Given the description of an element on the screen output the (x, y) to click on. 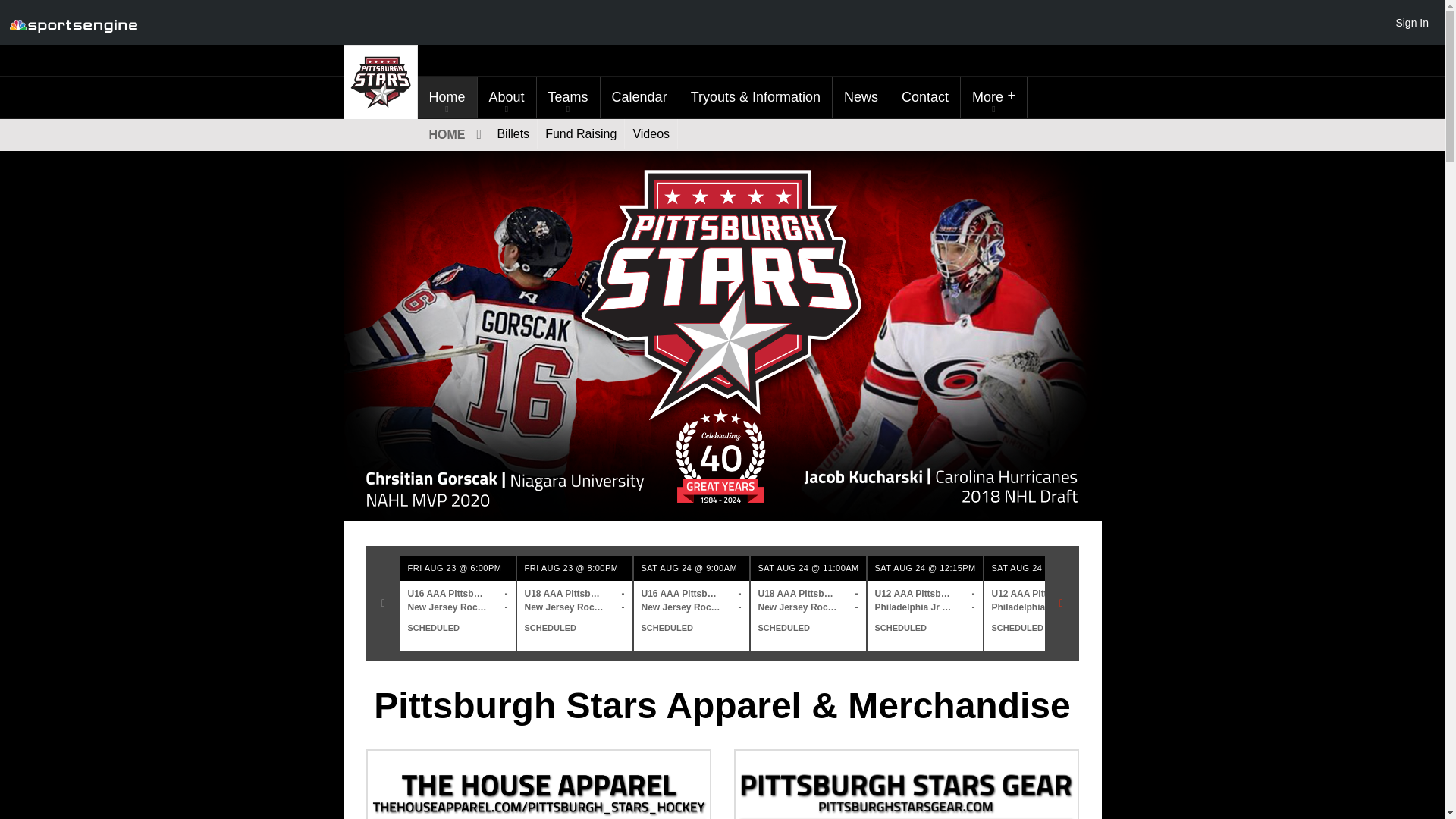
HOME (452, 133)
click to go to 'Teams' (568, 96)
click to go to 'Fund Raising' (580, 133)
click to go to 'Esmark Stars in the News' (860, 96)
click to go to 'About Us' (506, 96)
Sign In (1411, 22)
Videos (650, 133)
SportsEngine (73, 22)
Calendar (638, 96)
More (993, 96)
